Given the description of an element on the screen output the (x, y) to click on. 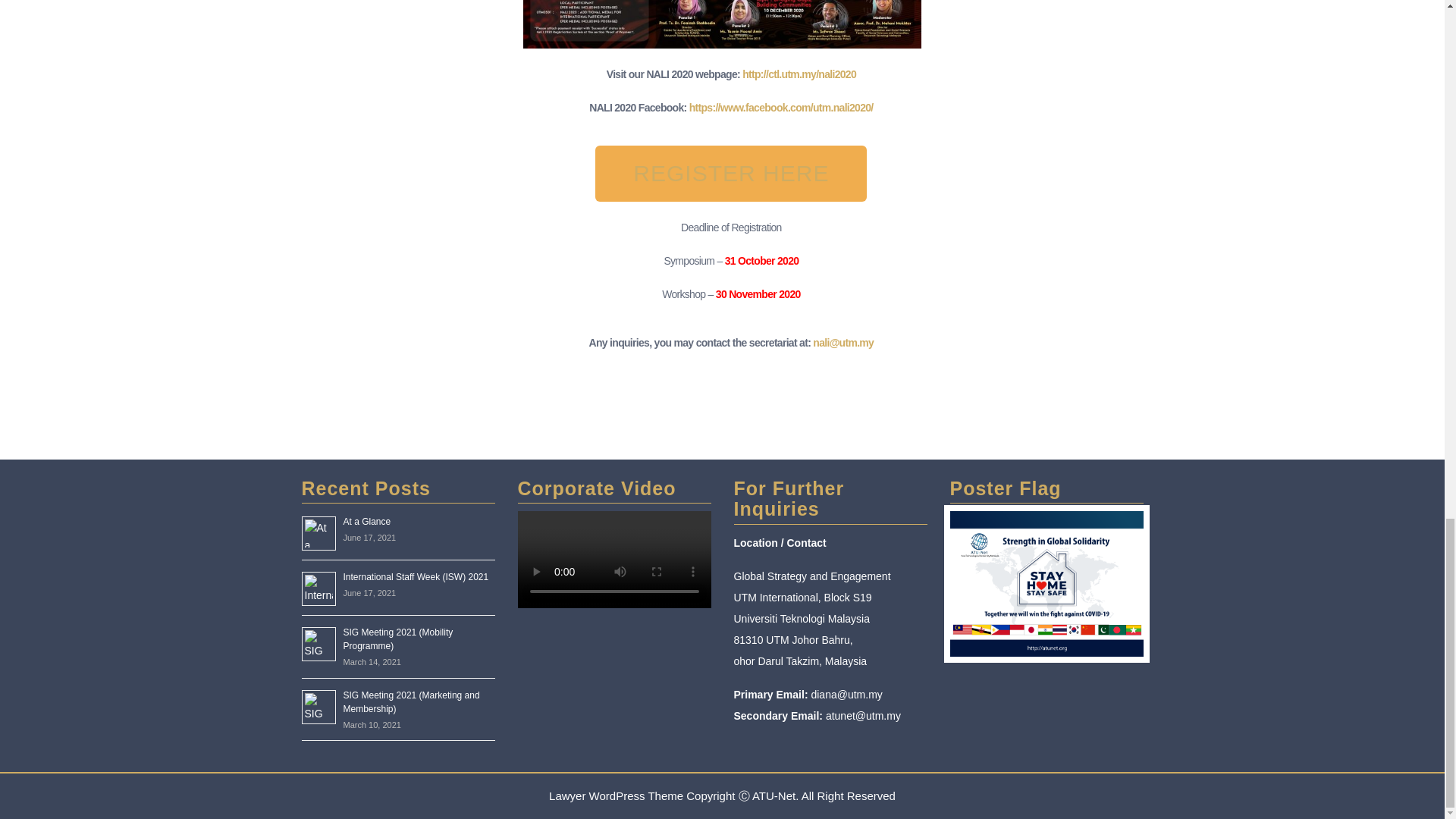
REGISTER HERE (730, 173)
Poster Flag (1045, 583)
Lawyer WordPress Theme (615, 795)
At a Glance (366, 521)
